Given the description of an element on the screen output the (x, y) to click on. 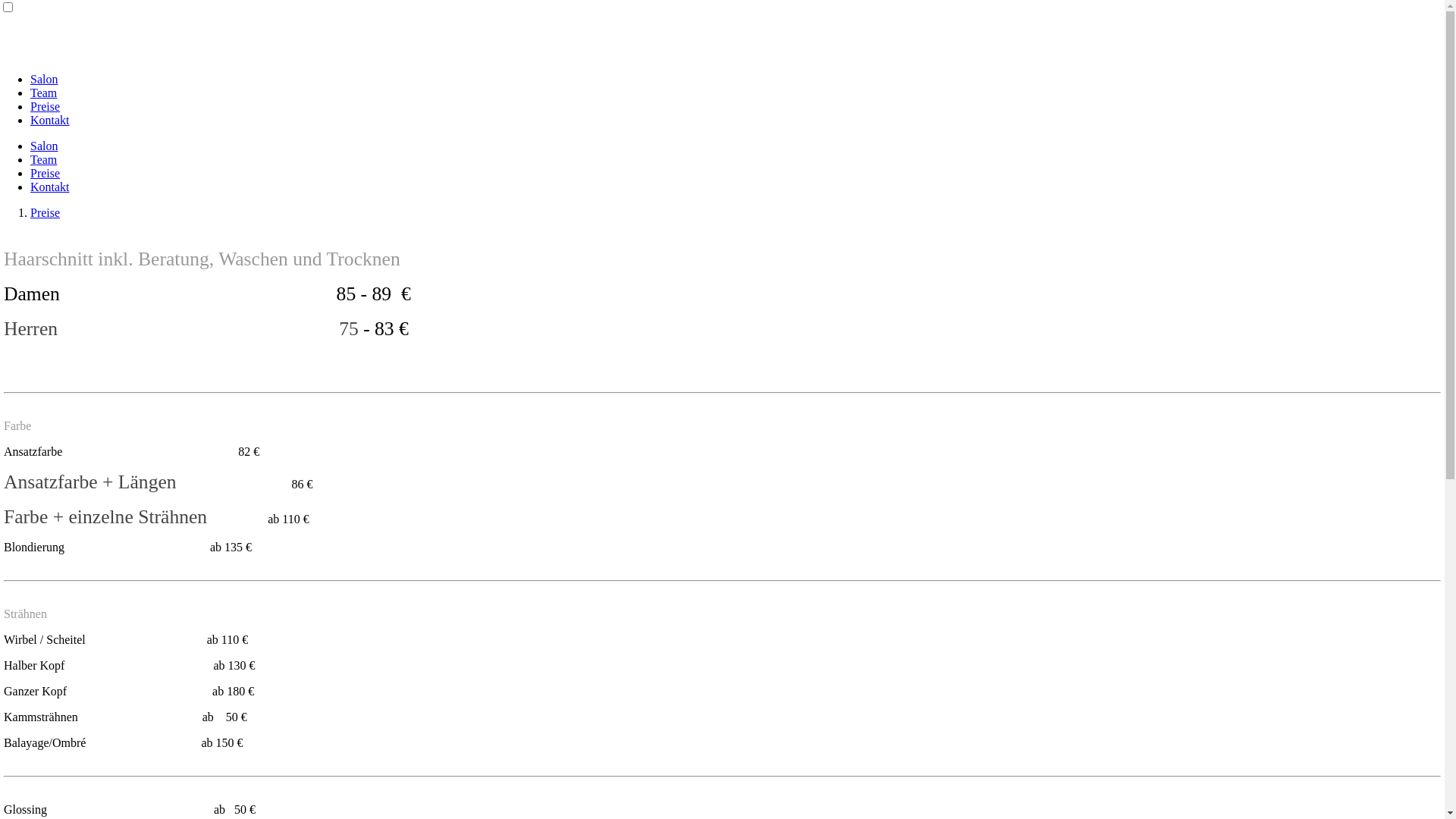
Team Element type: text (43, 92)
Salon Element type: text (43, 145)
Preise Element type: text (44, 212)
Preise Element type: text (44, 106)
Salon Element type: text (43, 78)
Kontakt Element type: text (49, 119)
Team Element type: text (43, 159)
Kontakt Element type: text (49, 186)
Preise Element type: text (44, 172)
